Given the description of an element on the screen output the (x, y) to click on. 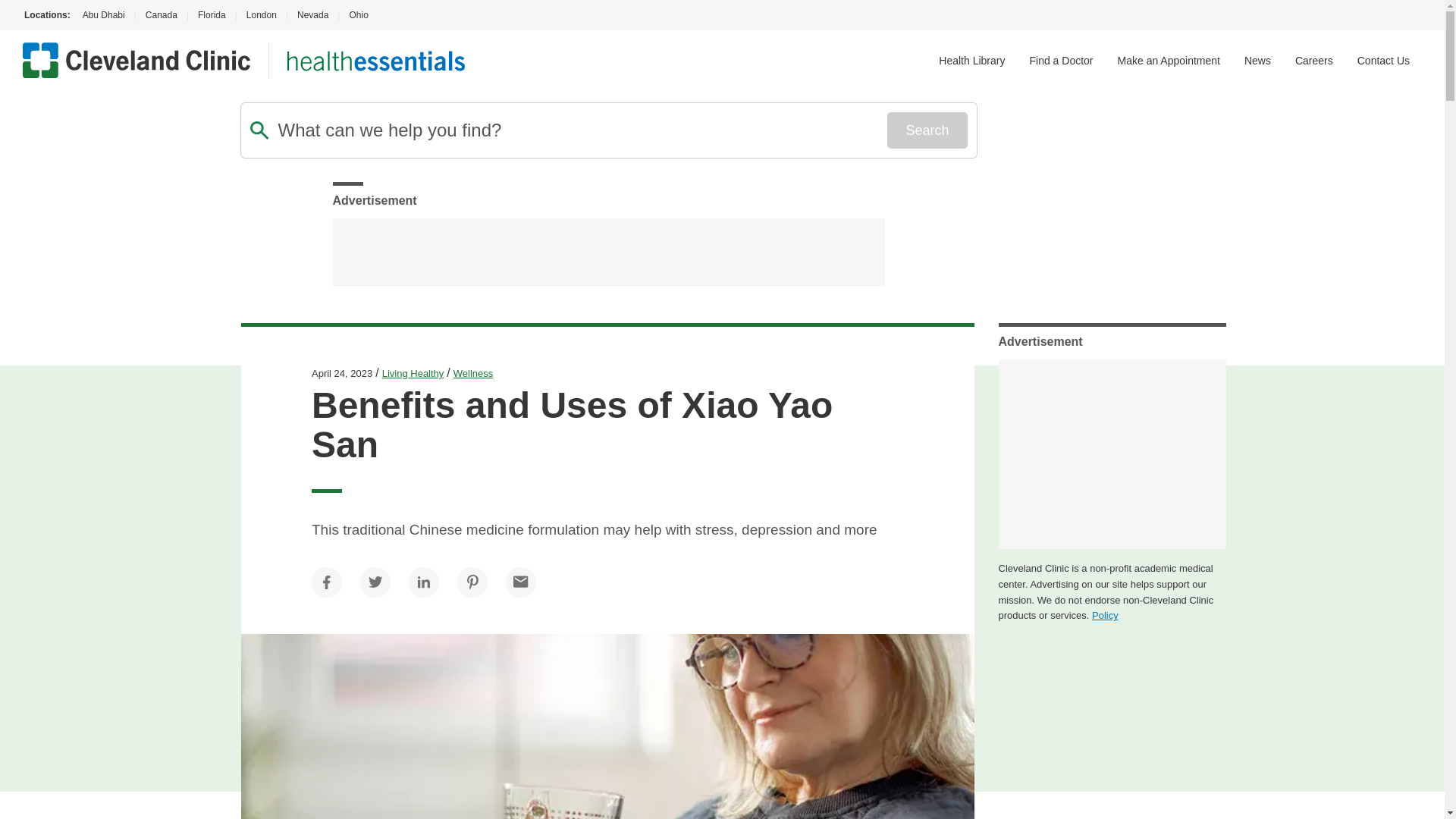
Wellness (472, 373)
Contact Us (1382, 60)
Living Healthy (412, 373)
Florida (211, 15)
Health Library (971, 60)
Nevada (312, 15)
News (1257, 60)
Canada (161, 15)
Find a Doctor (1061, 60)
London (261, 15)
Ohio (358, 15)
Abu Dhabi (101, 15)
Careers (1314, 60)
Make an Appointment (1169, 60)
